Given the description of an element on the screen output the (x, y) to click on. 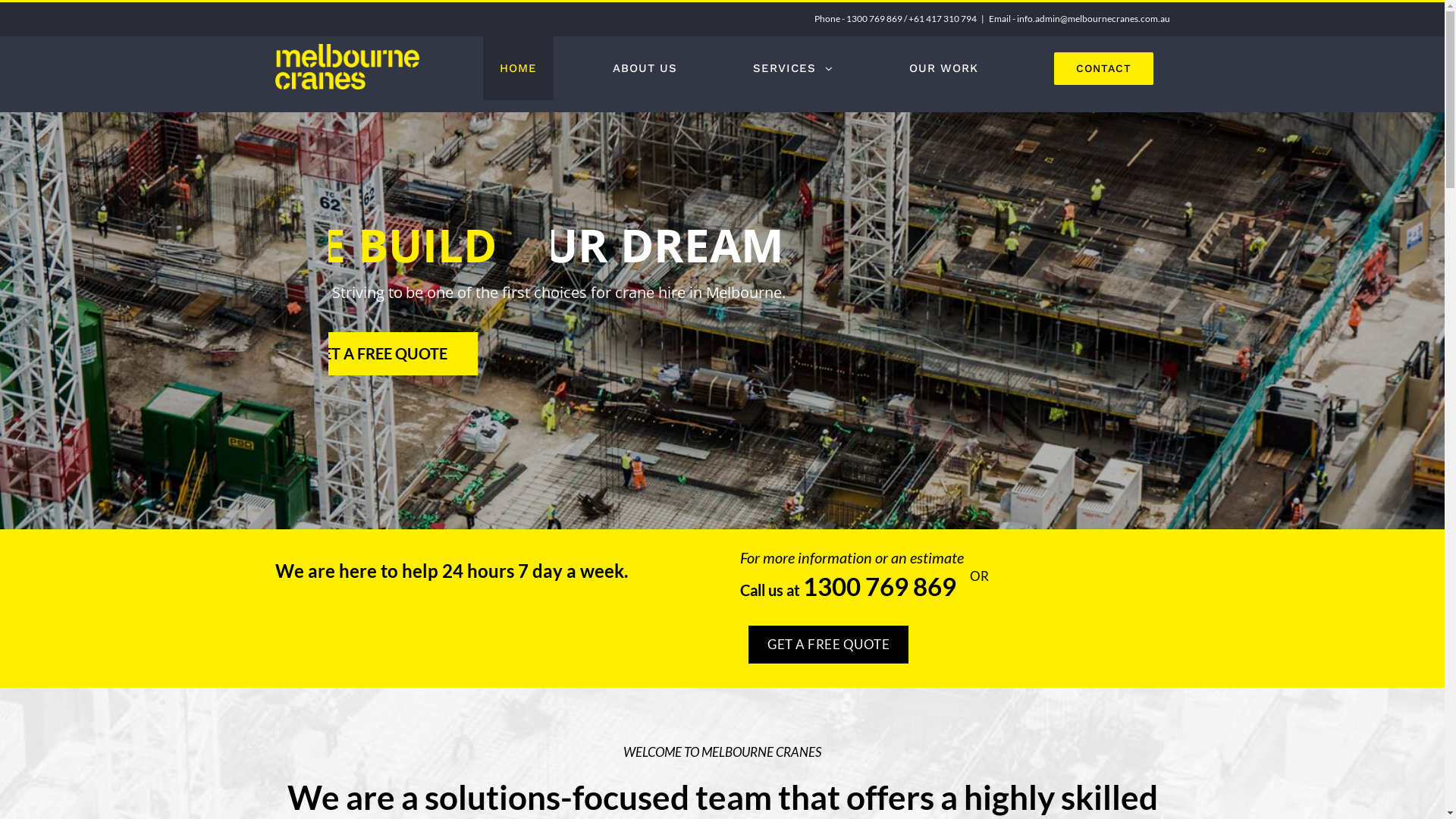
HOME Element type: text (517, 68)
1300 769 869 Element type: text (879, 586)
ABOUT US Element type: text (644, 68)
SERVICES Element type: text (792, 68)
OUR WORK Element type: text (942, 68)
CONTACT Element type: text (1103, 68)
GET A FREE QUOTE Element type: text (828, 644)
Email - info.admin@melbournecranes.com.au Element type: text (1079, 18)
